Given the description of an element on the screen output the (x, y) to click on. 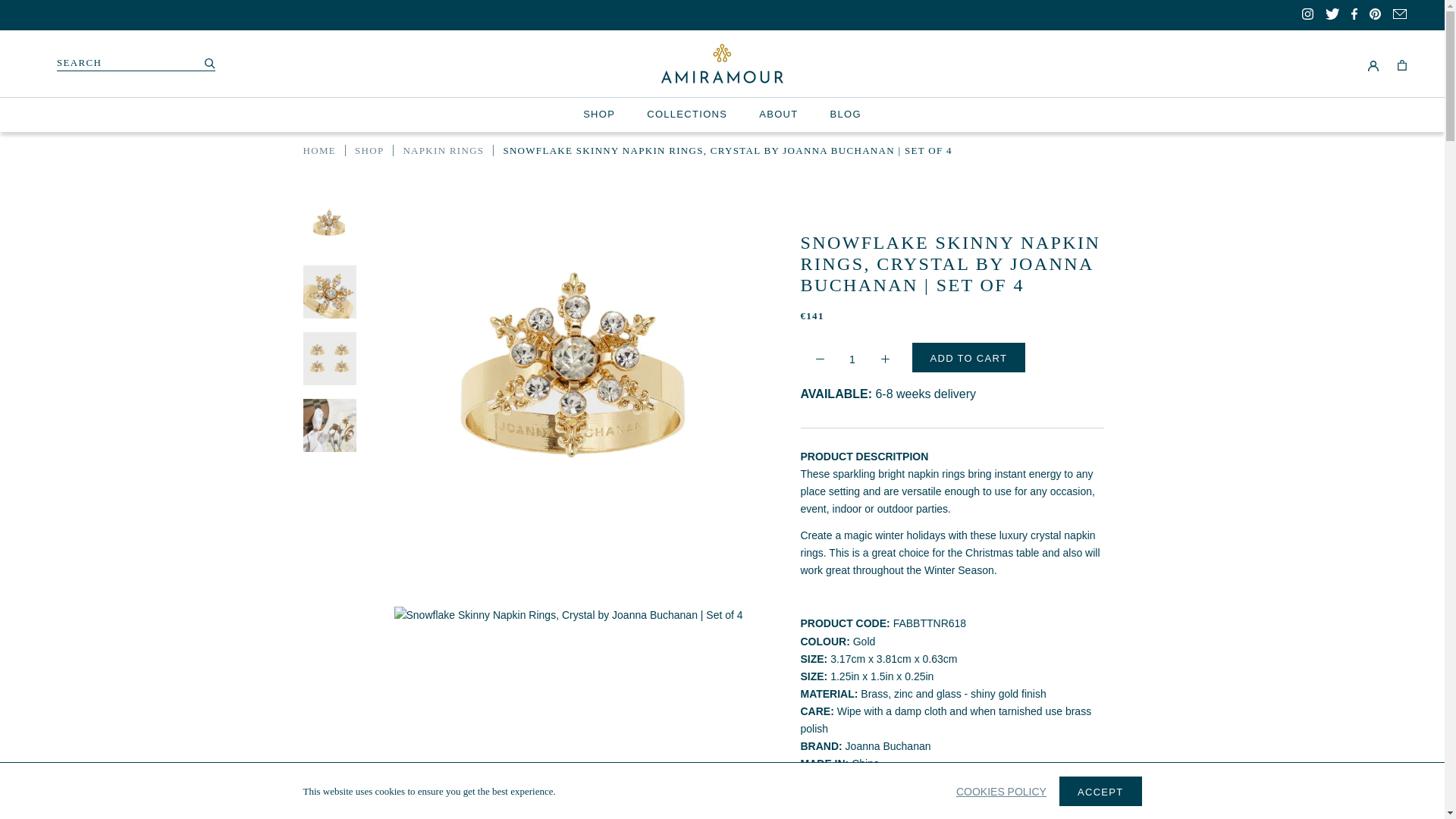
1 (851, 358)
